Given the description of an element on the screen output the (x, y) to click on. 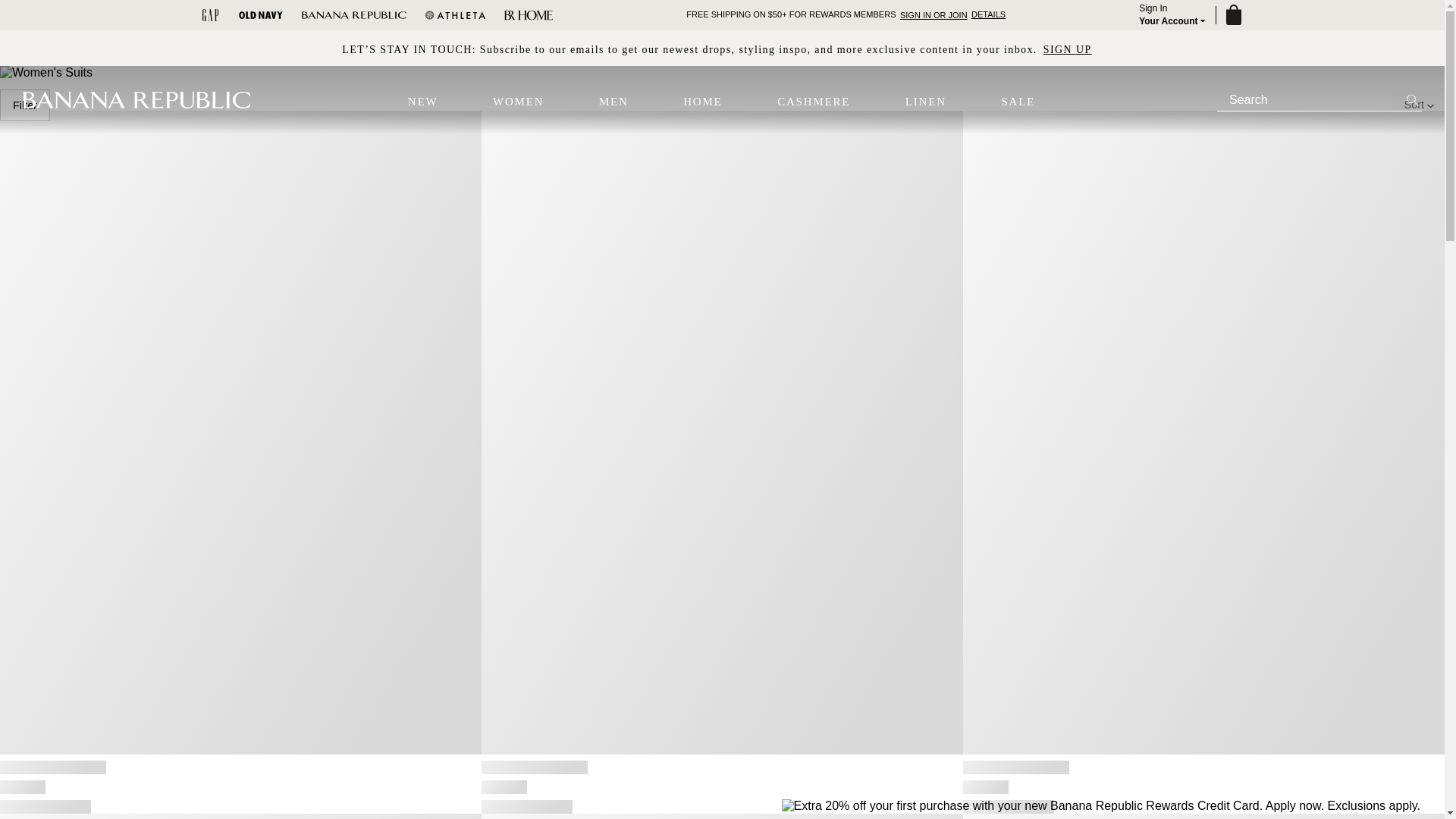
CASHMERE (813, 101)
LINEN (925, 101)
Bag (1232, 15)
Filter (24, 104)
SIGN UP (1067, 49)
DETAILS (988, 13)
MEN (613, 101)
